Given the description of an element on the screen output the (x, y) to click on. 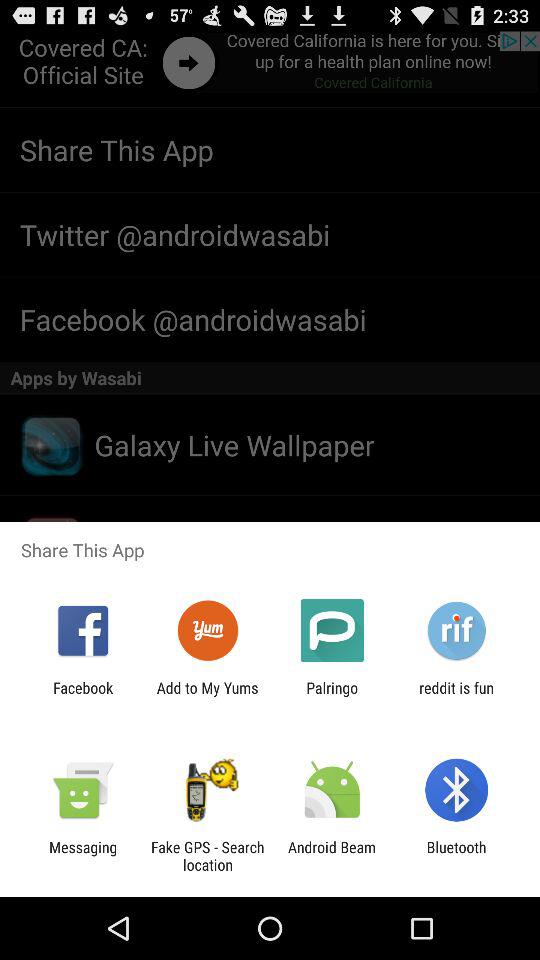
turn on the icon to the left of the bluetooth icon (332, 856)
